Given the description of an element on the screen output the (x, y) to click on. 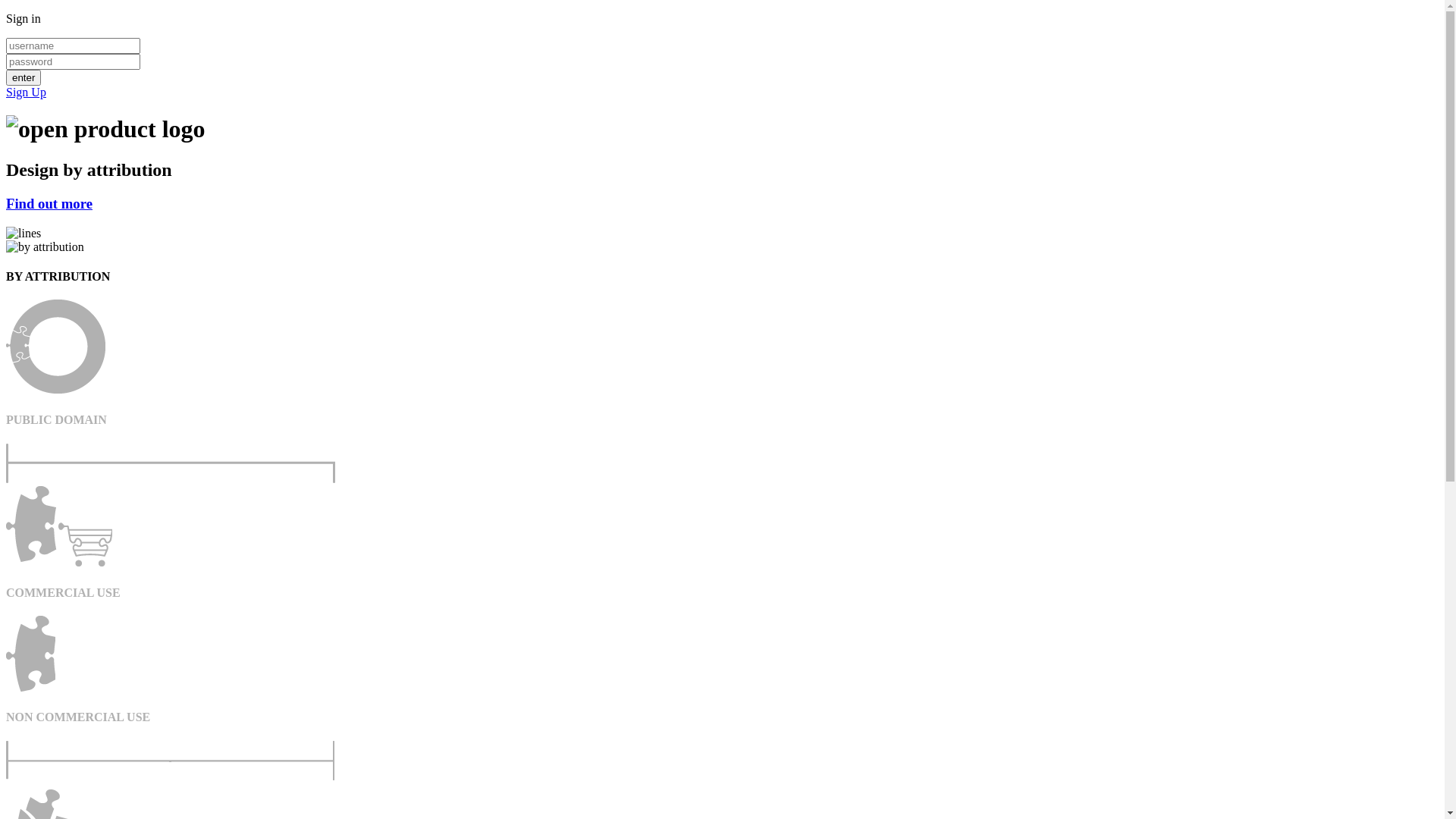
Sign Up Element type: text (26, 91)
Find out more Element type: text (49, 203)
enter Element type: text (23, 77)
